Given the description of an element on the screen output the (x, y) to click on. 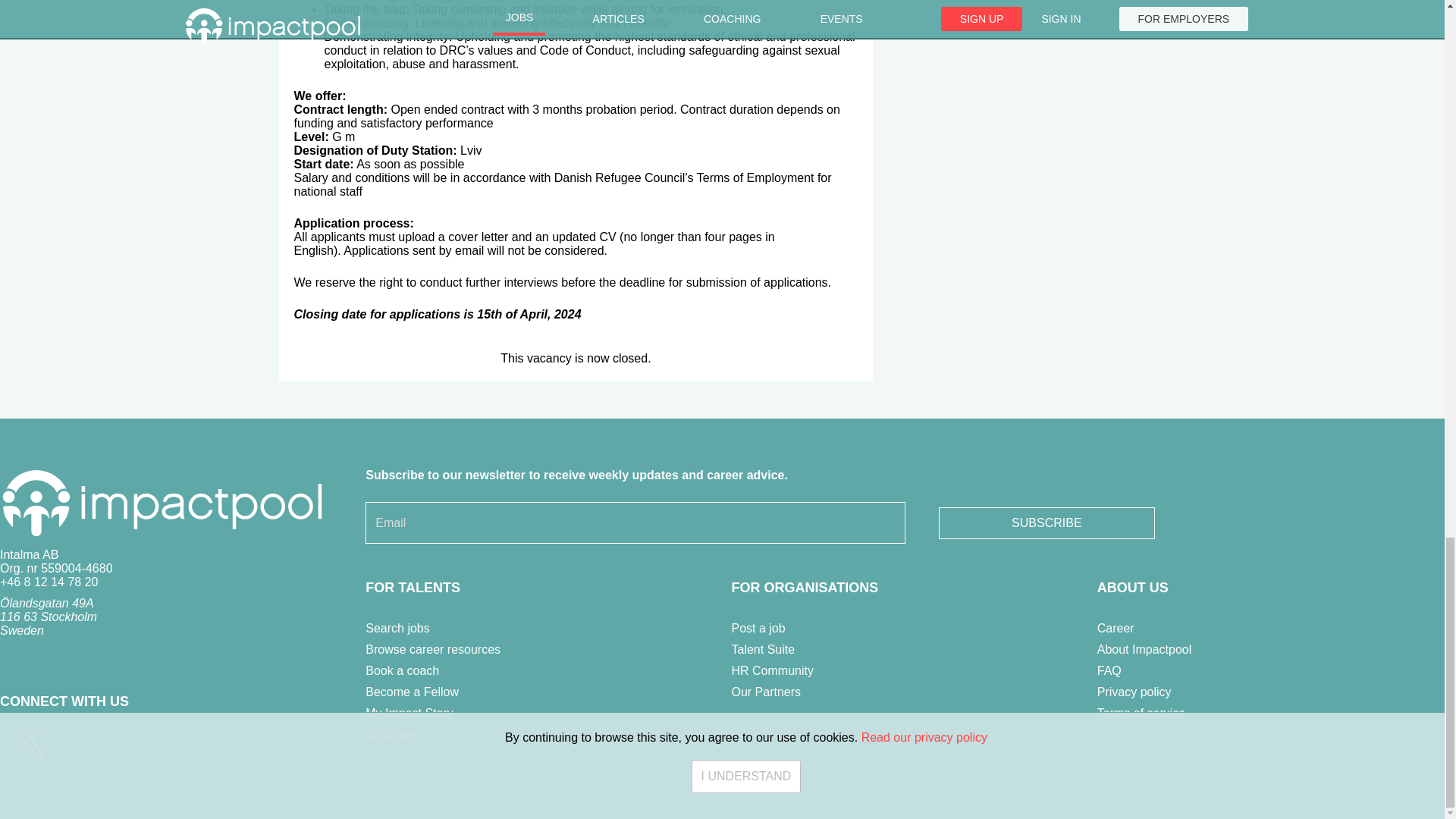
Subscribe (1046, 522)
Career (1115, 627)
About Impactpool (1144, 649)
FAQ (1109, 670)
Privacy policy (1134, 691)
